Given the description of an element on the screen output the (x, y) to click on. 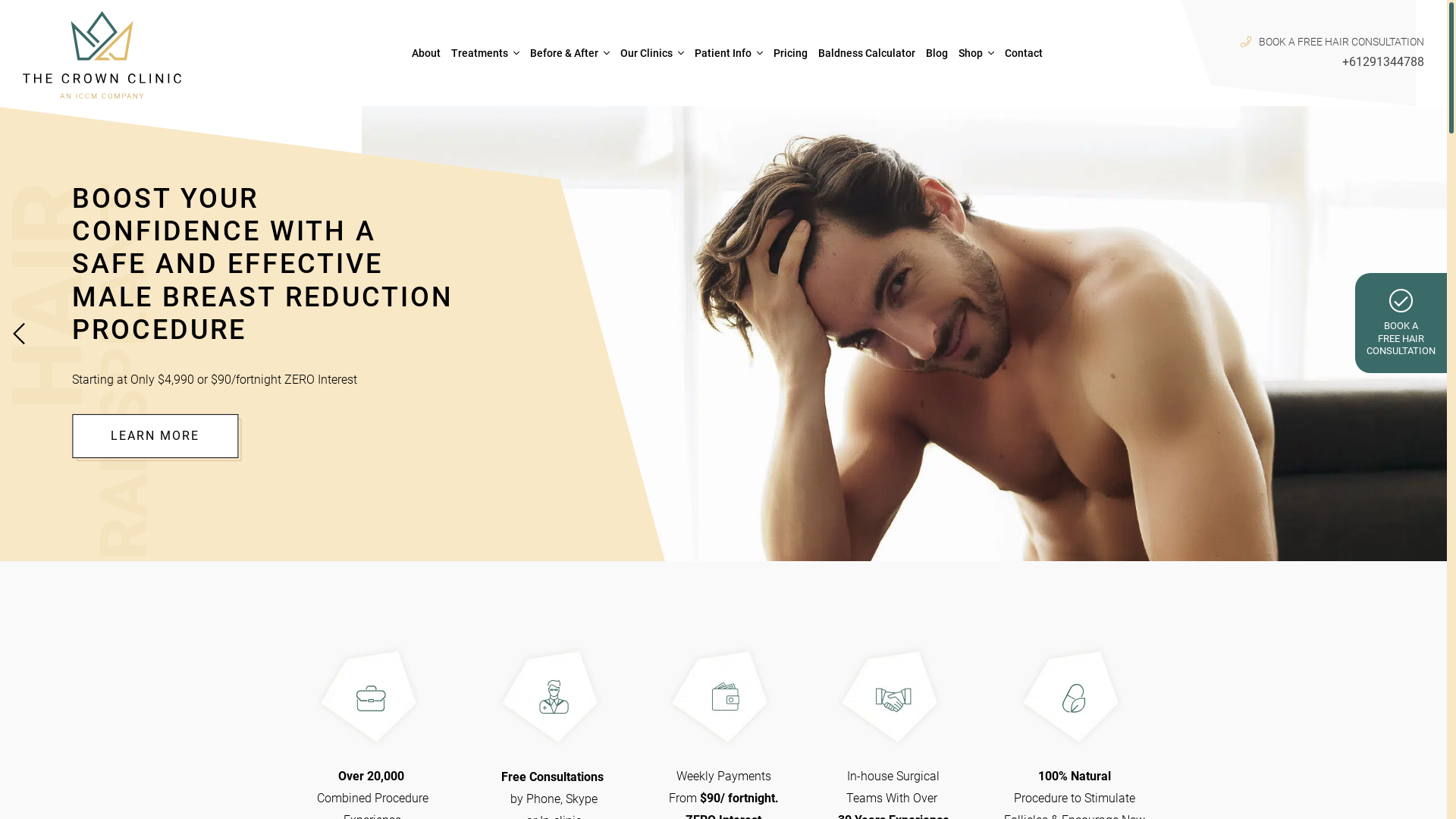
Baldness Calculator Element type: text (866, 52)
Blog Element type: text (936, 52)
Previous Element type: text (18, 333)
Shop Element type: text (970, 52)
About Element type: text (425, 52)
Contact Element type: text (1023, 52)
Treatments Element type: text (479, 52)
Pricing Element type: text (790, 52)
Next Element type: text (1427, 333)
Patient Info Element type: text (722, 52)
+61291344788 Element type: text (1383, 61)
Our Clinics Element type: text (646, 52)
Before & After Element type: text (564, 52)
LEARN MORE Element type: text (155, 436)
BOOK A
FREE HAIR
CONSULTATION Element type: text (1400, 323)
